Given the description of an element on the screen output the (x, y) to click on. 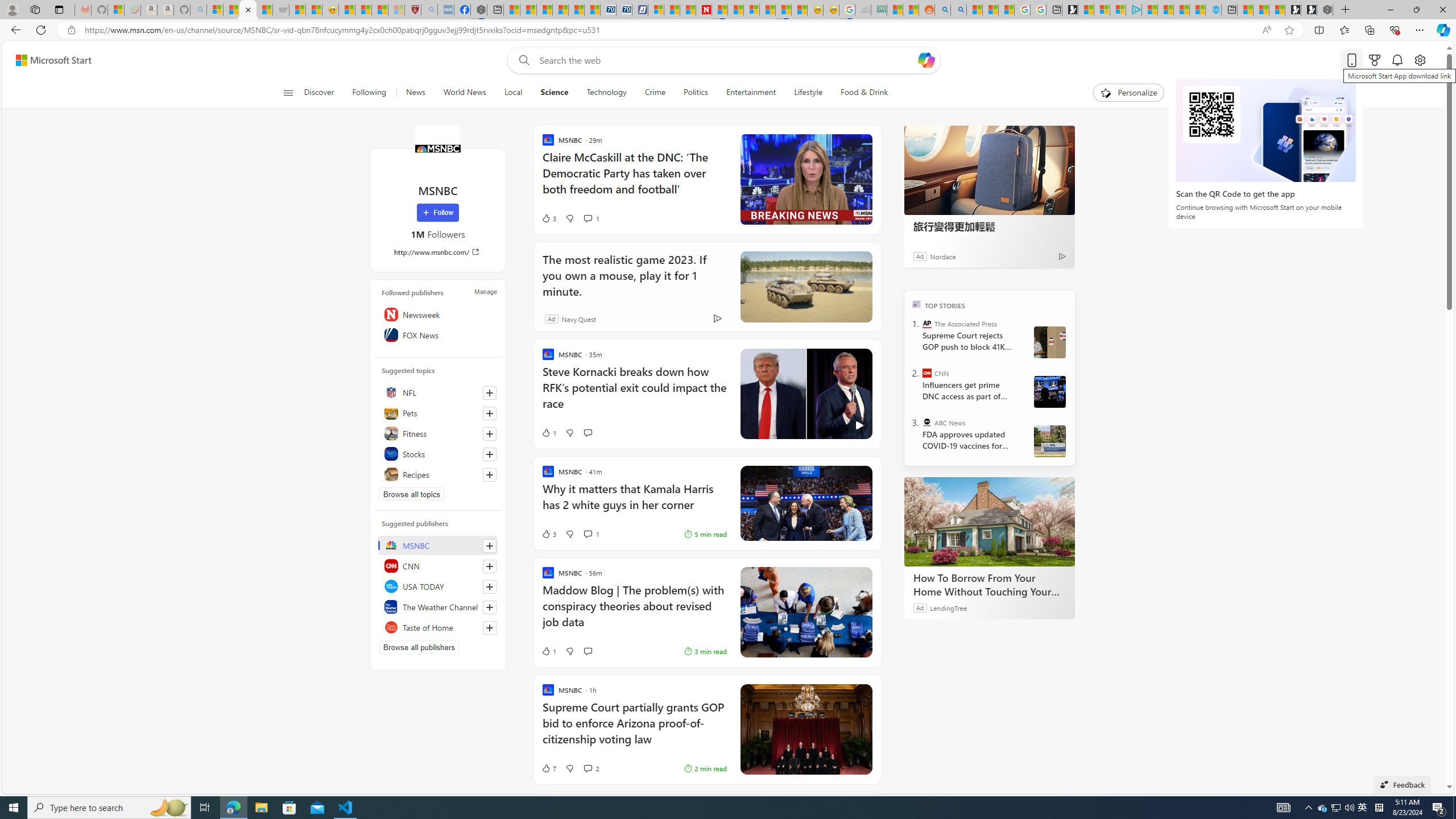
Open navigation menu (287, 92)
Follow this source (489, 627)
Food & Drink (864, 92)
Cheap Car Rentals - Save70.com (608, 9)
Personalize (1128, 92)
